Given the description of an element on the screen output the (x, y) to click on. 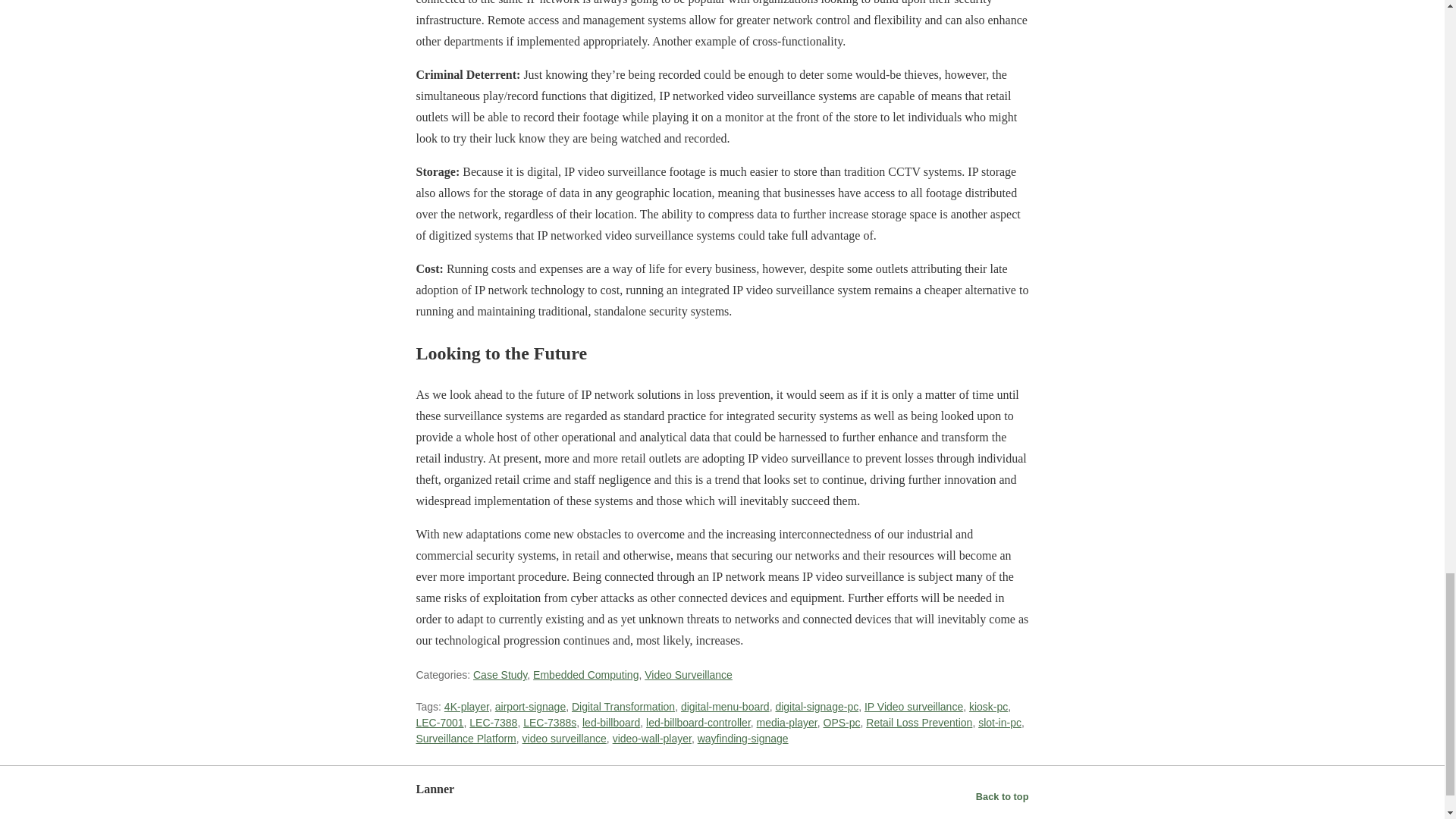
IP Video surveillance (913, 706)
airport-signage (530, 706)
LEC-7001 (438, 722)
wayfinding-signage (743, 738)
slot-in-pc (1000, 722)
Video Surveillance (688, 674)
video-wall-player (651, 738)
Case Study (500, 674)
4K-player (466, 706)
Surveillance Platform (464, 738)
video surveillance (564, 738)
Back to top (1002, 796)
led-billboard-controller (698, 722)
Digital Transformation (623, 706)
OPS-pc (842, 722)
